Given the description of an element on the screen output the (x, y) to click on. 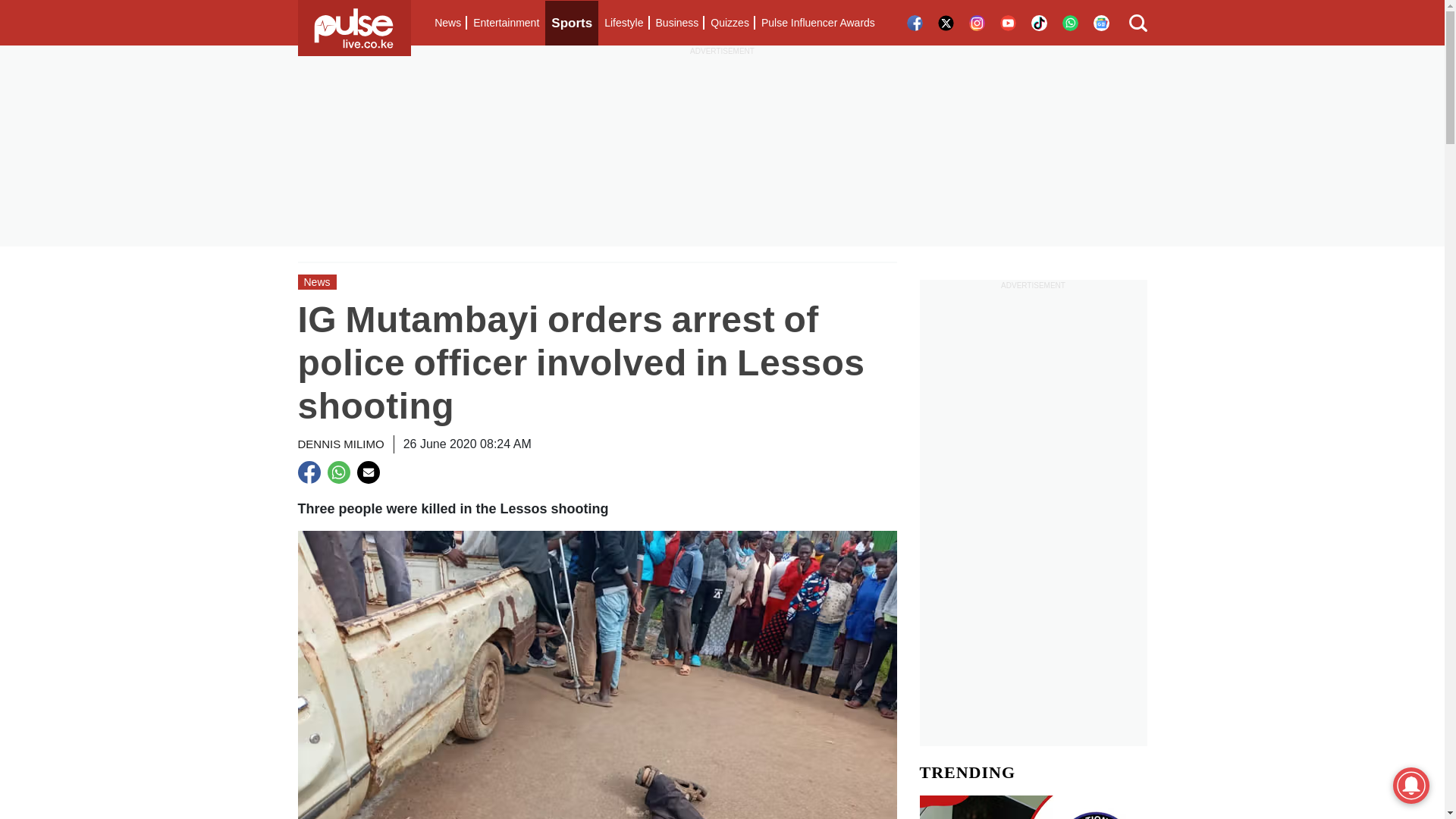
Pulse Influencer Awards (817, 22)
Quizzes (729, 22)
Sports (571, 22)
Business (676, 22)
Entertainment (505, 22)
Lifestyle (623, 22)
